Given the description of an element on the screen output the (x, y) to click on. 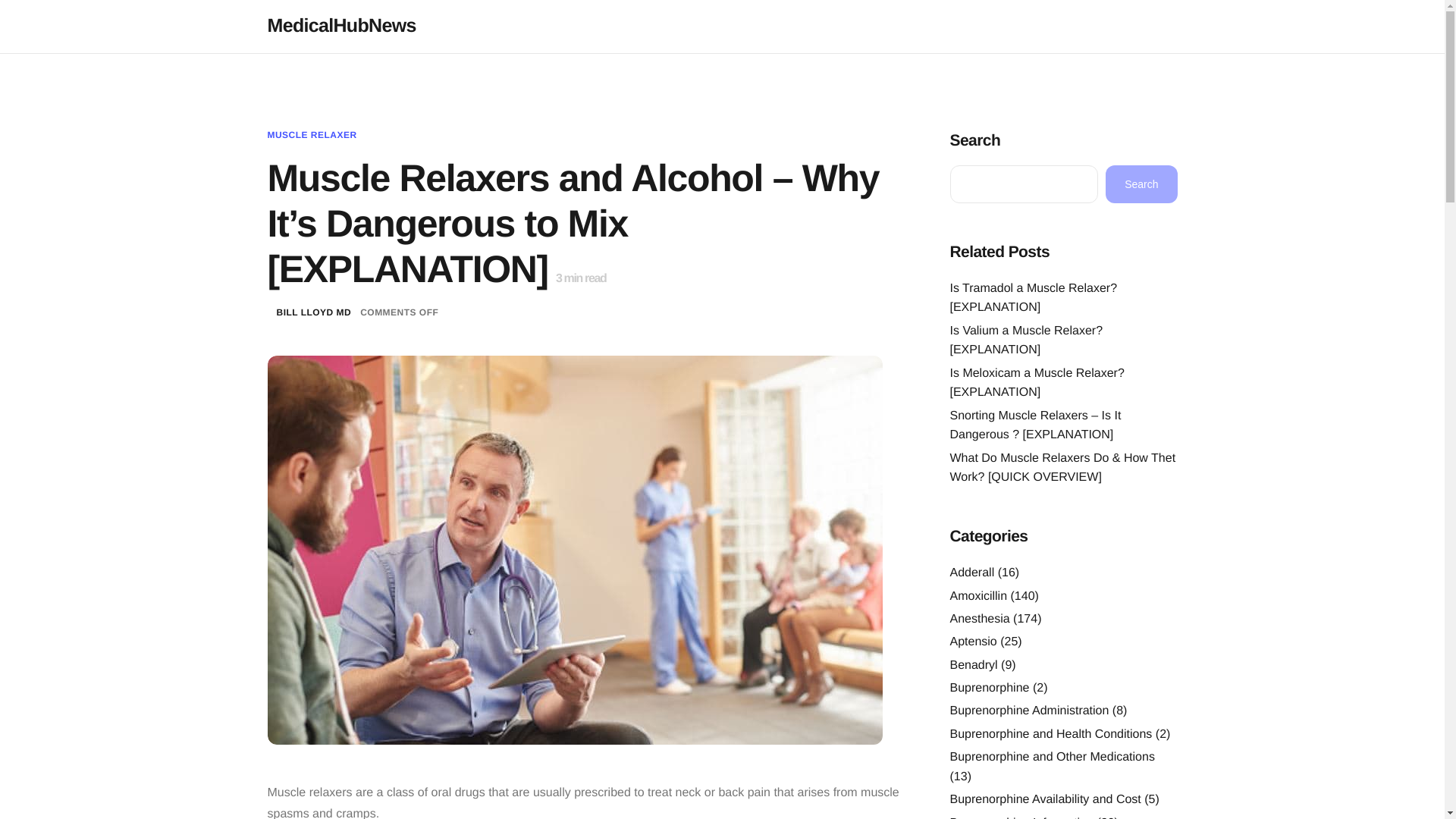
Aptensio (972, 641)
Buprenorphine and Other Medications (1051, 757)
Adderall (971, 572)
BILL LLOYD MD (313, 312)
Search (1140, 184)
MUSCLE RELAXER (311, 134)
Amoxicillin (978, 595)
Buprenorphine (989, 687)
Posts by Bill Lloyd MD (313, 312)
MedicalHubNews (340, 26)
